Given the description of an element on the screen output the (x, y) to click on. 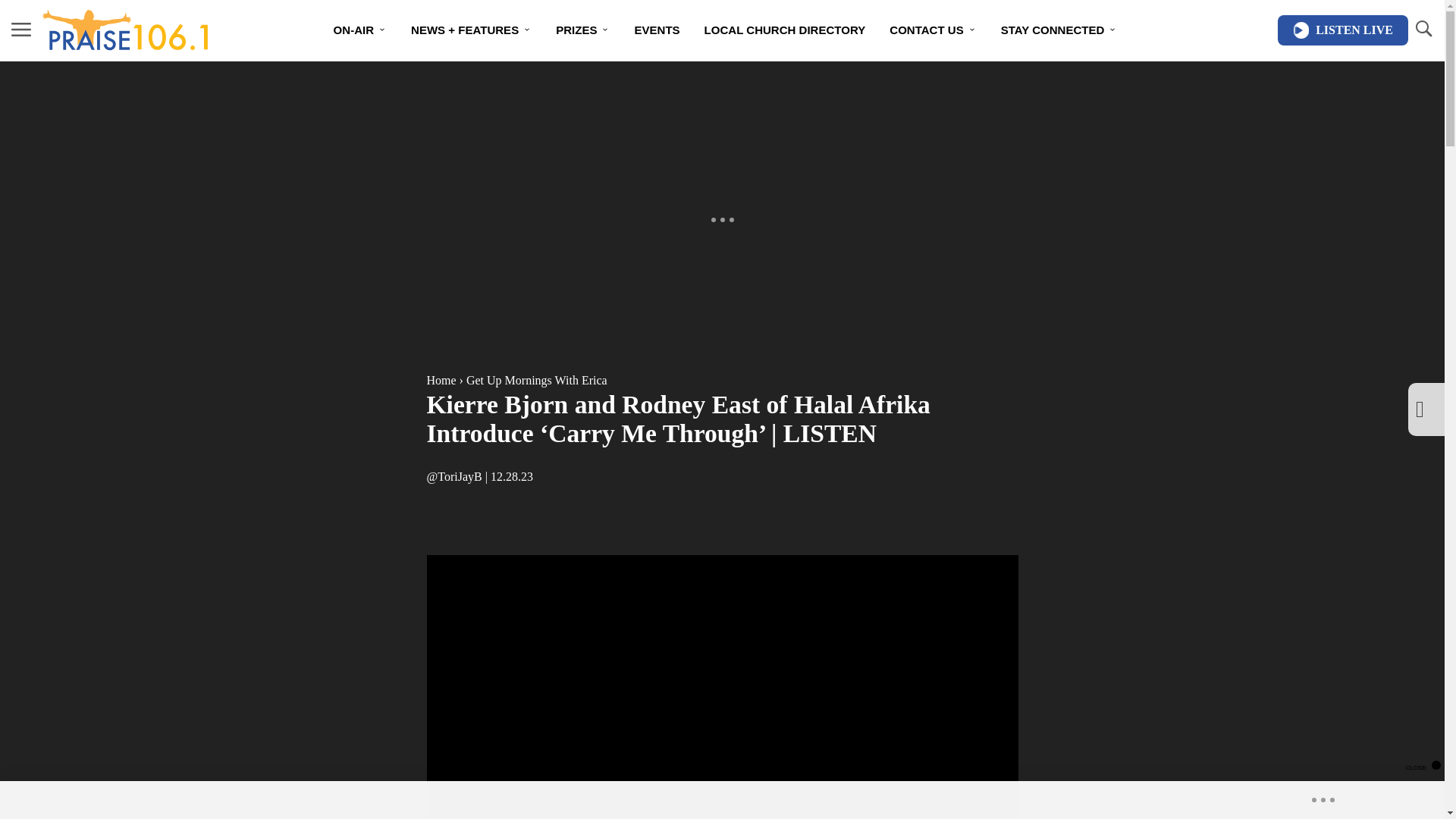
STAY CONNECTED (1058, 30)
MENU (20, 30)
LOCAL CHURCH DIRECTORY (785, 30)
MENU (20, 29)
LISTEN LIVE (1342, 30)
ON-AIR (359, 30)
CONTACT US (932, 30)
EVENTS (656, 30)
TOGGLE SEARCH (1422, 28)
PRIZES (582, 30)
